Given the description of an element on the screen output the (x, y) to click on. 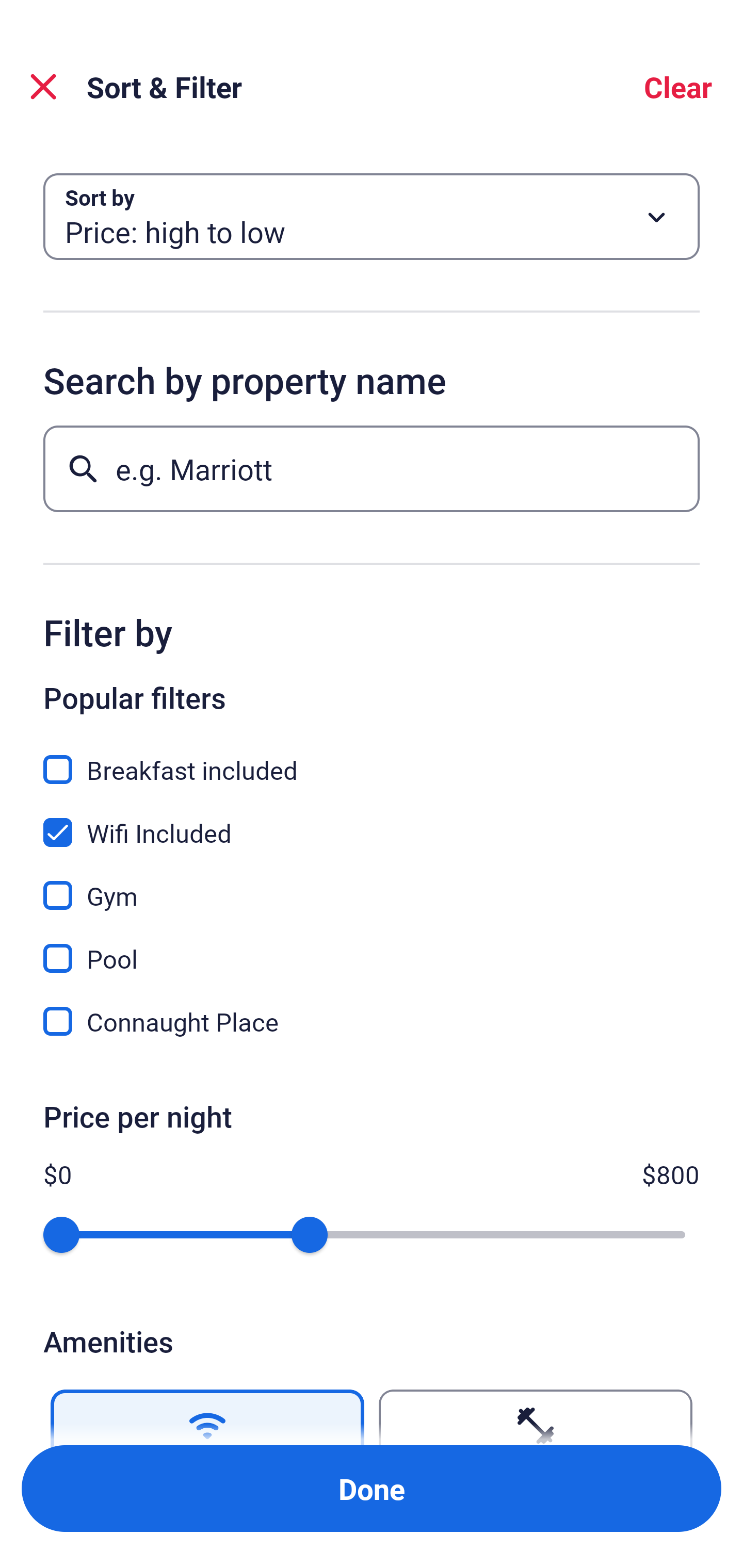
Close Sort and Filter (43, 86)
Clear (677, 86)
Sort by Button Price: high to low (371, 217)
e.g. Marriott Button (371, 468)
Breakfast included, Breakfast included (371, 757)
Wifi Included, Wifi Included (371, 821)
Gym, Gym (371, 883)
Pool, Pool (371, 946)
Connaught Place, Connaught Place (371, 1021)
Apply and close Sort and Filter Done (371, 1488)
